Given the description of an element on the screen output the (x, y) to click on. 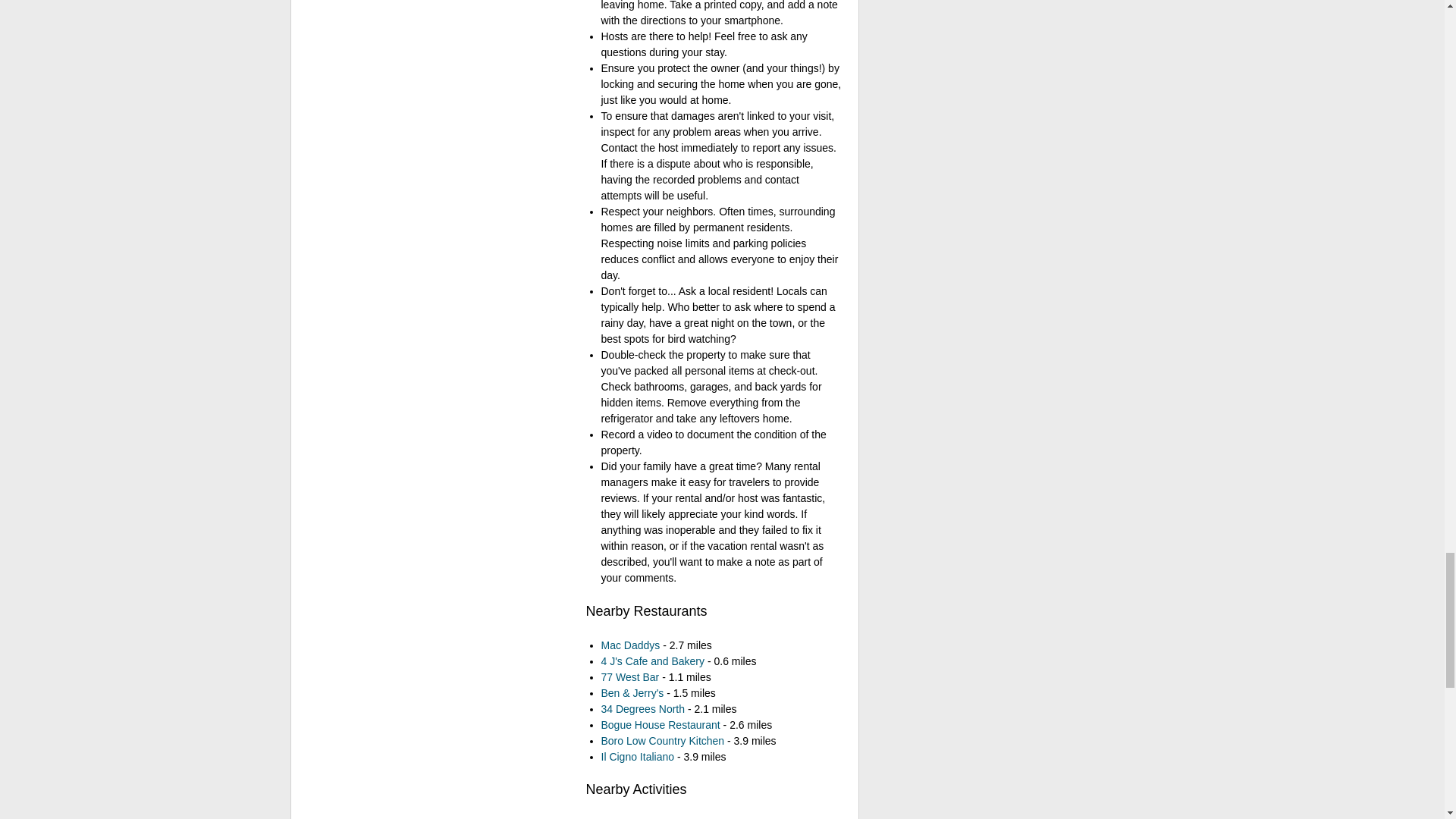
Mac Daddys (629, 644)
77 West Bar (629, 676)
34 Degrees North (641, 707)
Il Cigno Italiano (636, 756)
Boro Low Country Kitchen (661, 739)
4 J's Cafe and Bakery (651, 661)
Bogue House Restaurant (659, 725)
